Given the description of an element on the screen output the (x, y) to click on. 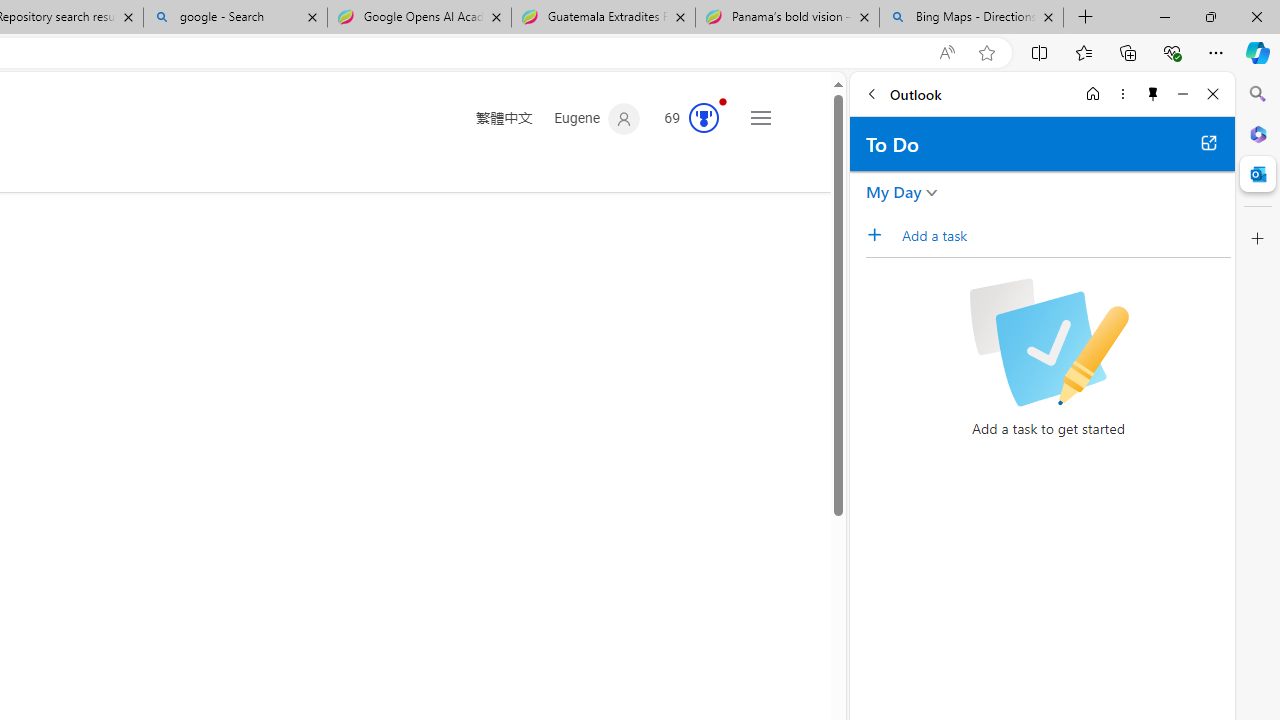
Google Opens AI Academy for Startups - Nearshore Americas (418, 17)
Unpin side pane (1153, 93)
Customize (1258, 239)
Home (1093, 93)
Close Outlook pane (1258, 174)
